Given the description of an element on the screen output the (x, y) to click on. 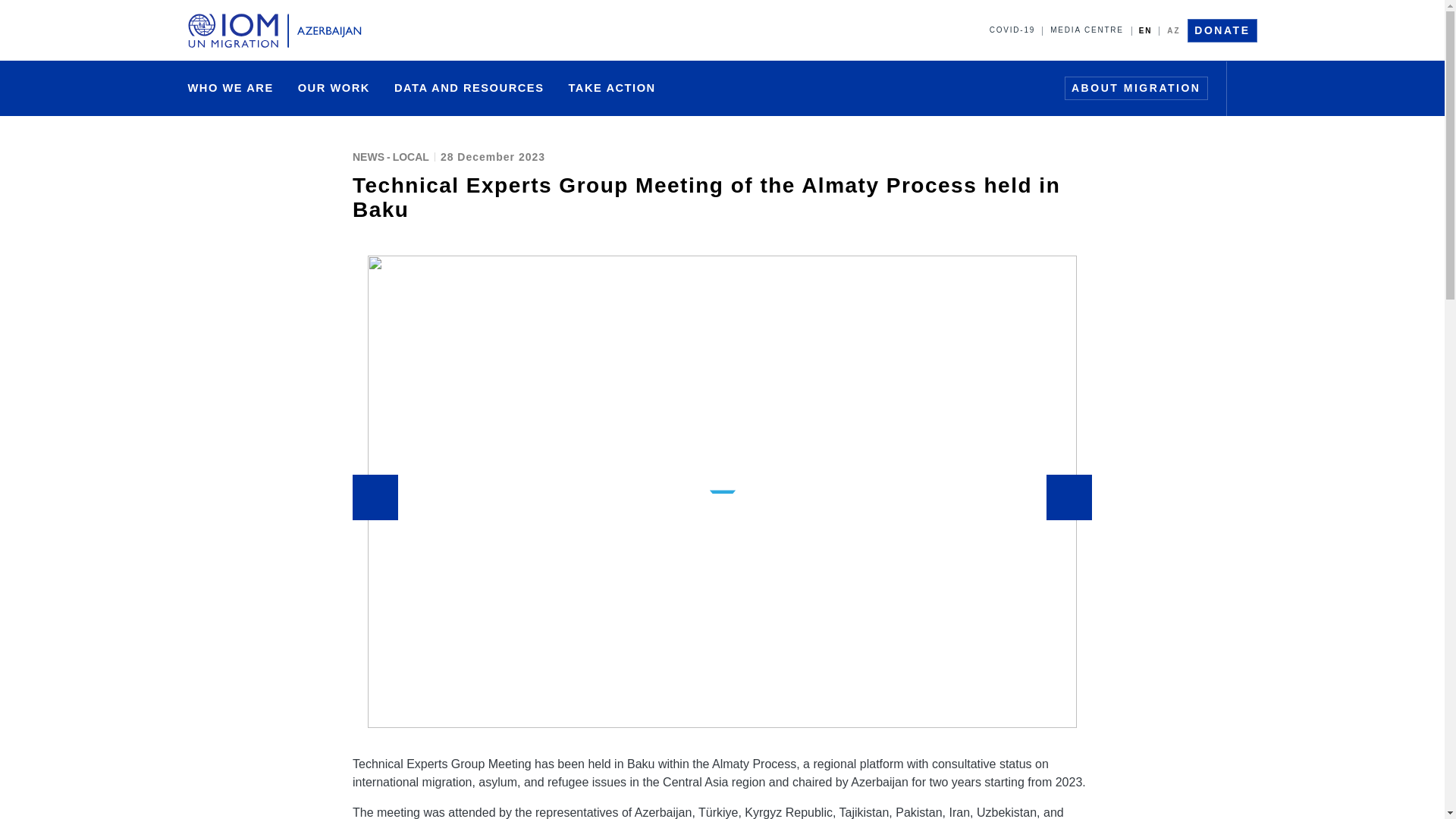
Click here to Search our website (1248, 87)
WHO WE ARE (230, 88)
EN (1145, 30)
ABOUT MIGRATION (1136, 87)
MEDIA CENTRE (1086, 30)
COVID-19 (1012, 30)
DONATE (1222, 29)
DATA AND RESOURCES (468, 88)
AZ (1173, 30)
2030 AGENDA (684, 88)
Home (277, 30)
TAKE ACTION (611, 88)
OUR WORK (333, 88)
Skip to main content (721, 1)
